Given the description of an element on the screen output the (x, y) to click on. 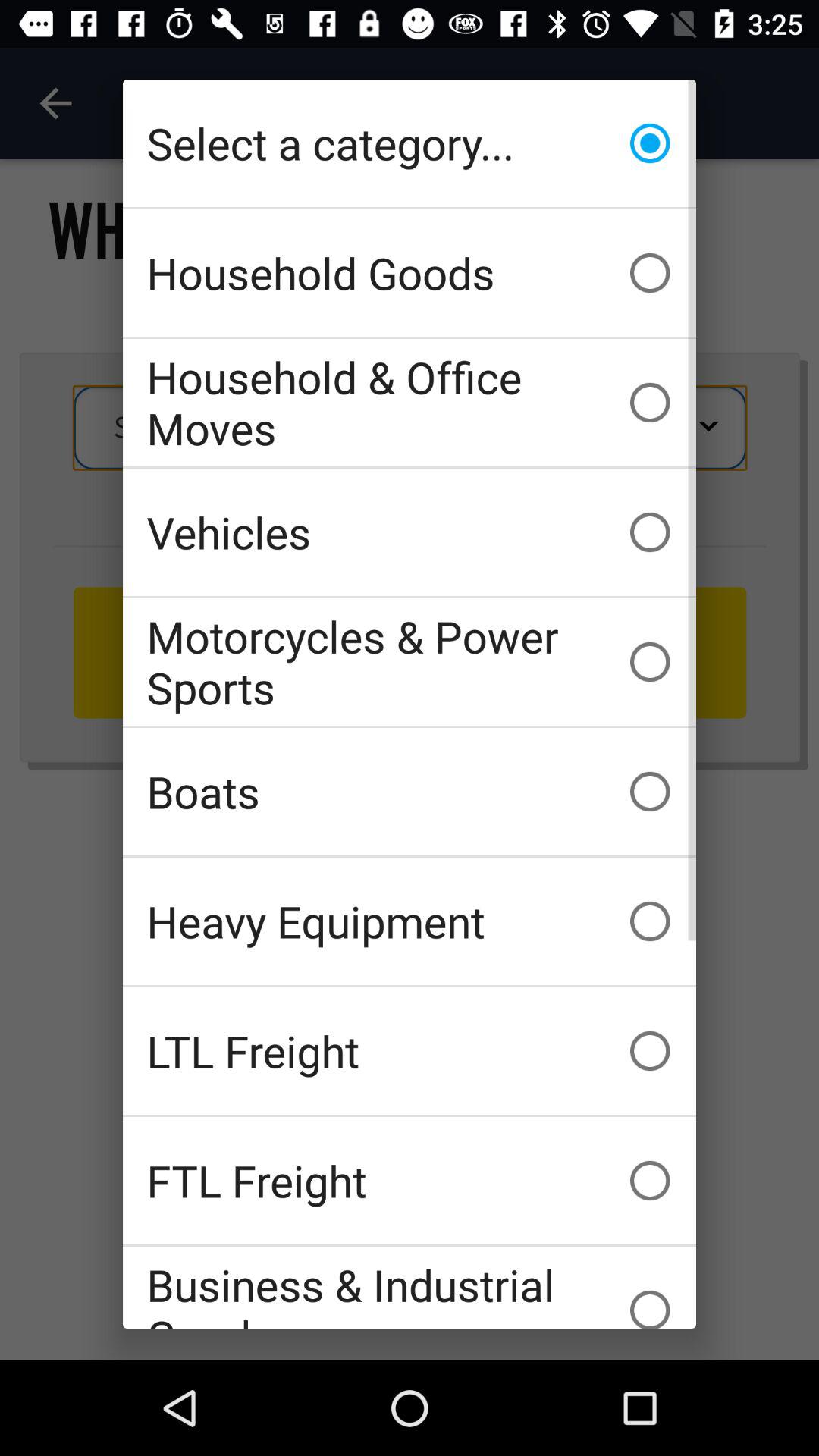
turn off boats (409, 791)
